Given the description of an element on the screen output the (x, y) to click on. 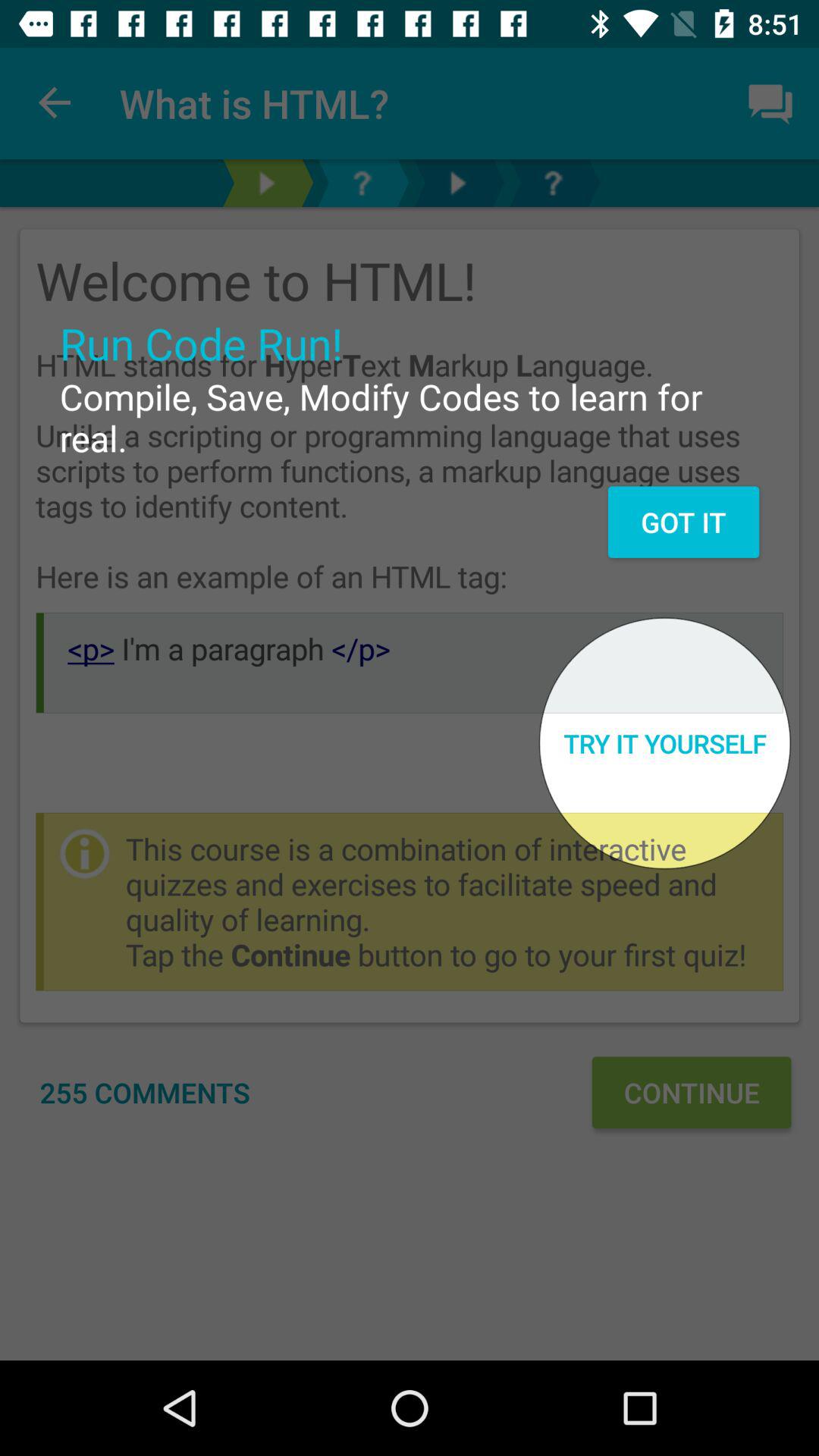
go next (265, 183)
